Given the description of an element on the screen output the (x, y) to click on. 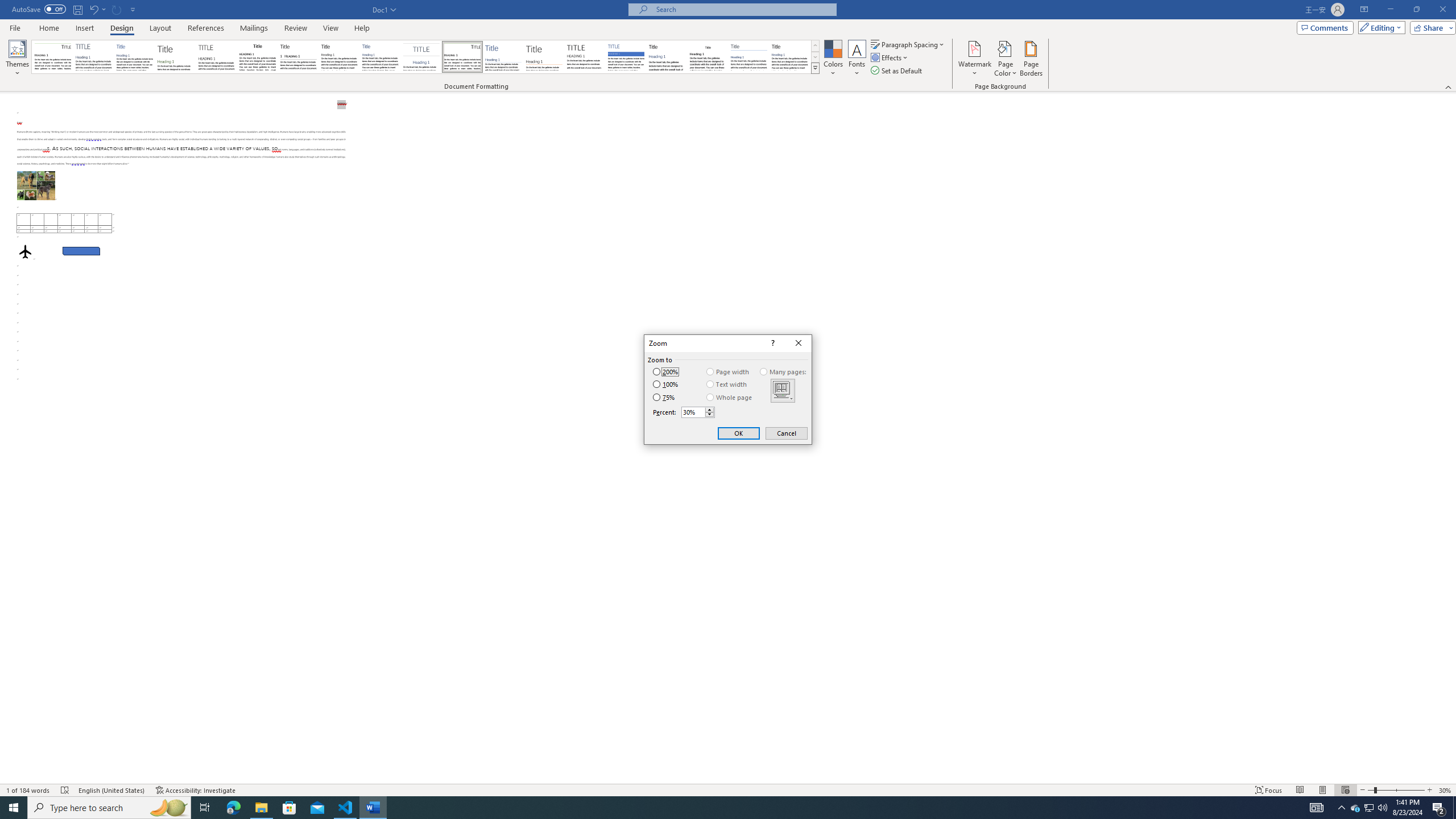
Themes (17, 58)
75% (663, 396)
Page width (728, 371)
Shaded (625, 56)
Word 2003 (707, 56)
Word Count 1 of 184 words (28, 790)
Casual (379, 56)
Style Set (814, 67)
